Given the description of an element on the screen output the (x, y) to click on. 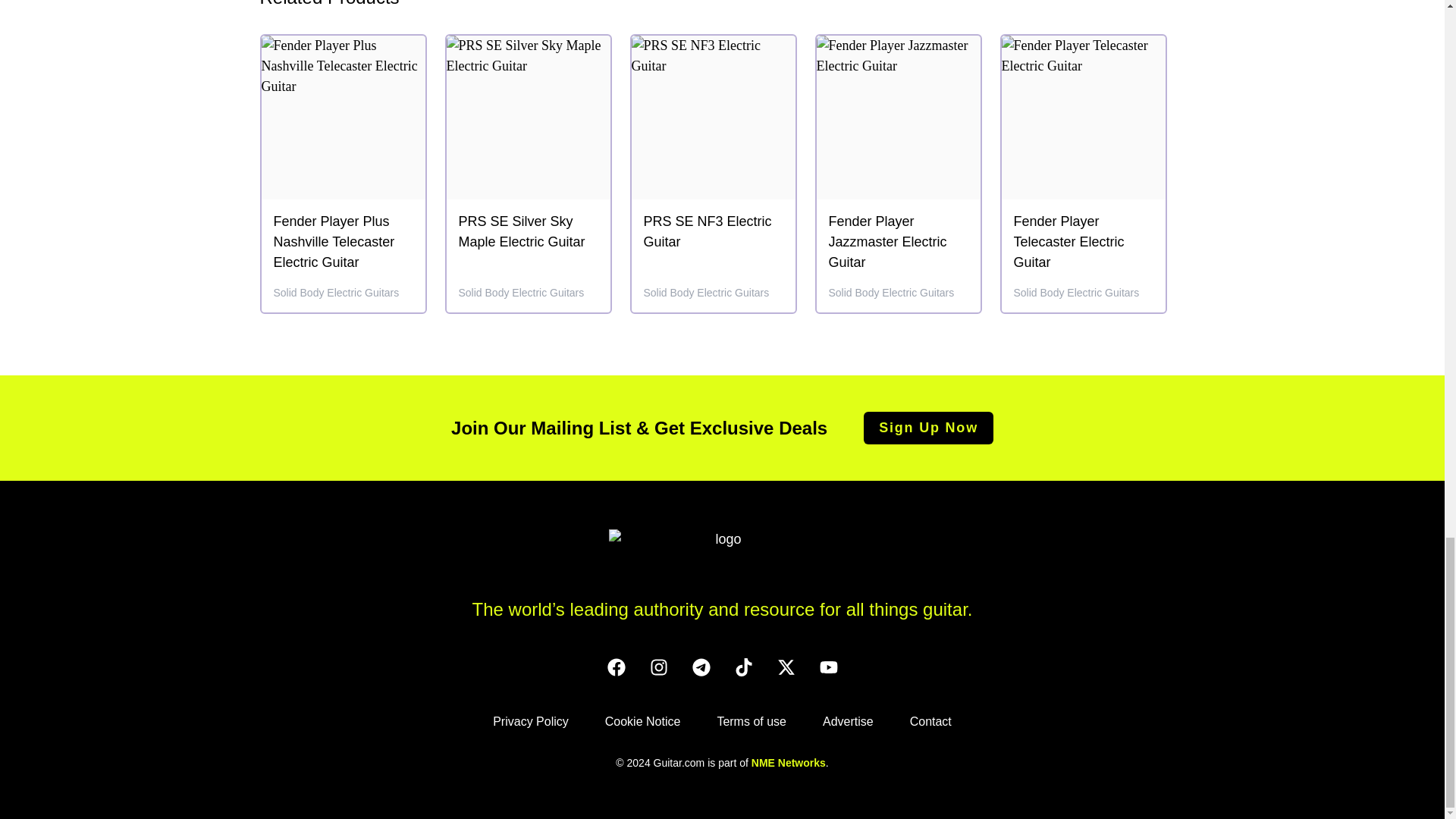
Fender Player Plus Nashville Telecaster Electric Guitar (342, 245)
Fender Player Jazzmaster Electric Guitar (898, 241)
PRS SE NF3 Electric Guitar (713, 231)
PRS SE NF3 Electric Guitar (713, 234)
Fender Player Telecaster Electric Guitar (1083, 241)
PRS SE Silver Sky Maple Electric Guitar (527, 234)
Fender Player Jazzmaster Electric Guitar (898, 245)
PRS SE Silver Sky Maple Electric Guitar (527, 231)
Fender Player Plus Nashville Telecaster Electric Guitar (342, 241)
